Given the description of an element on the screen output the (x, y) to click on. 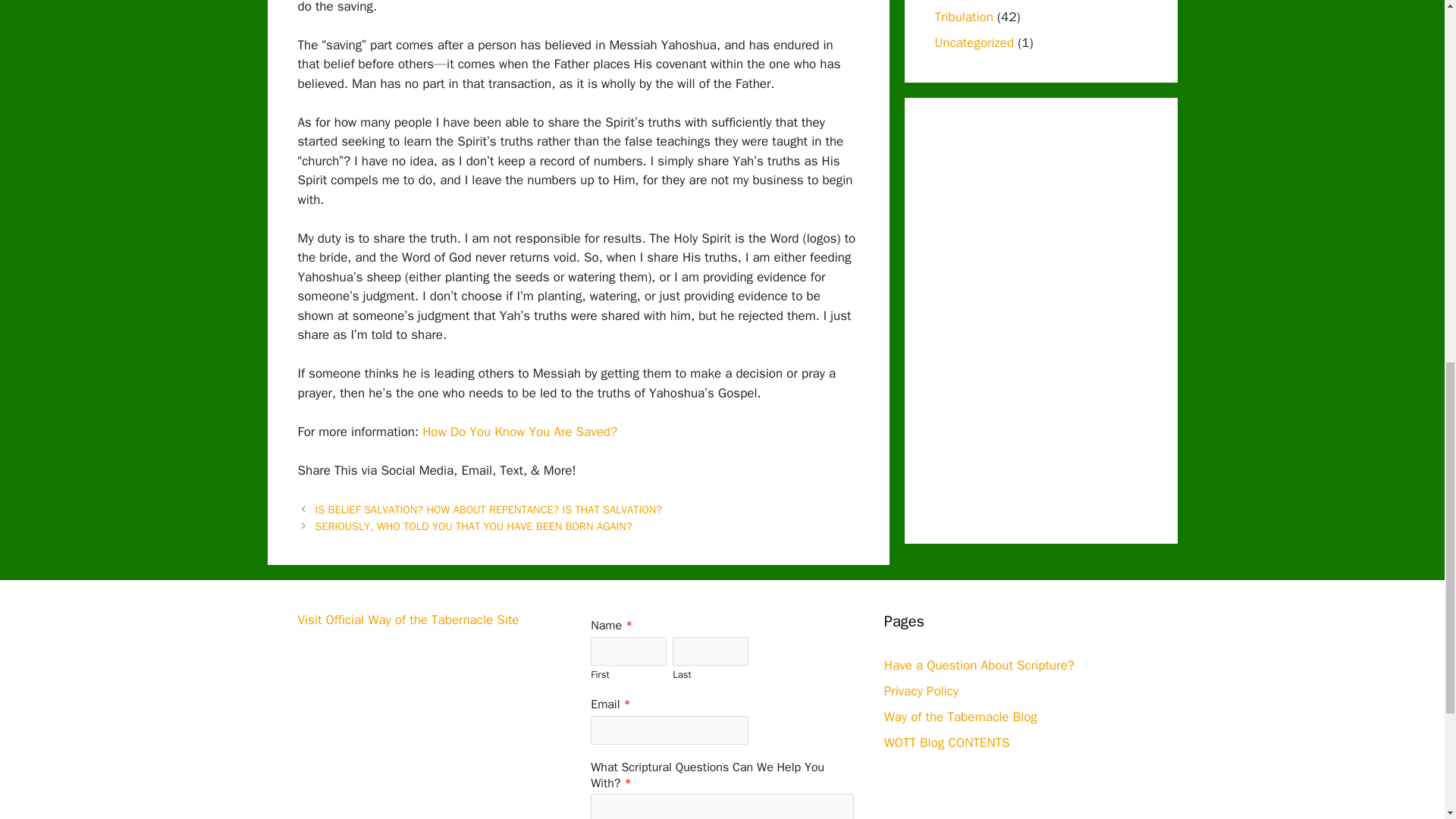
SERIOUSLY, WHO TOLD YOU THAT YOU HAVE BEEN BORN AGAIN? (473, 526)
How Do You Know You Are Saved? (519, 431)
